Given the description of an element on the screen output the (x, y) to click on. 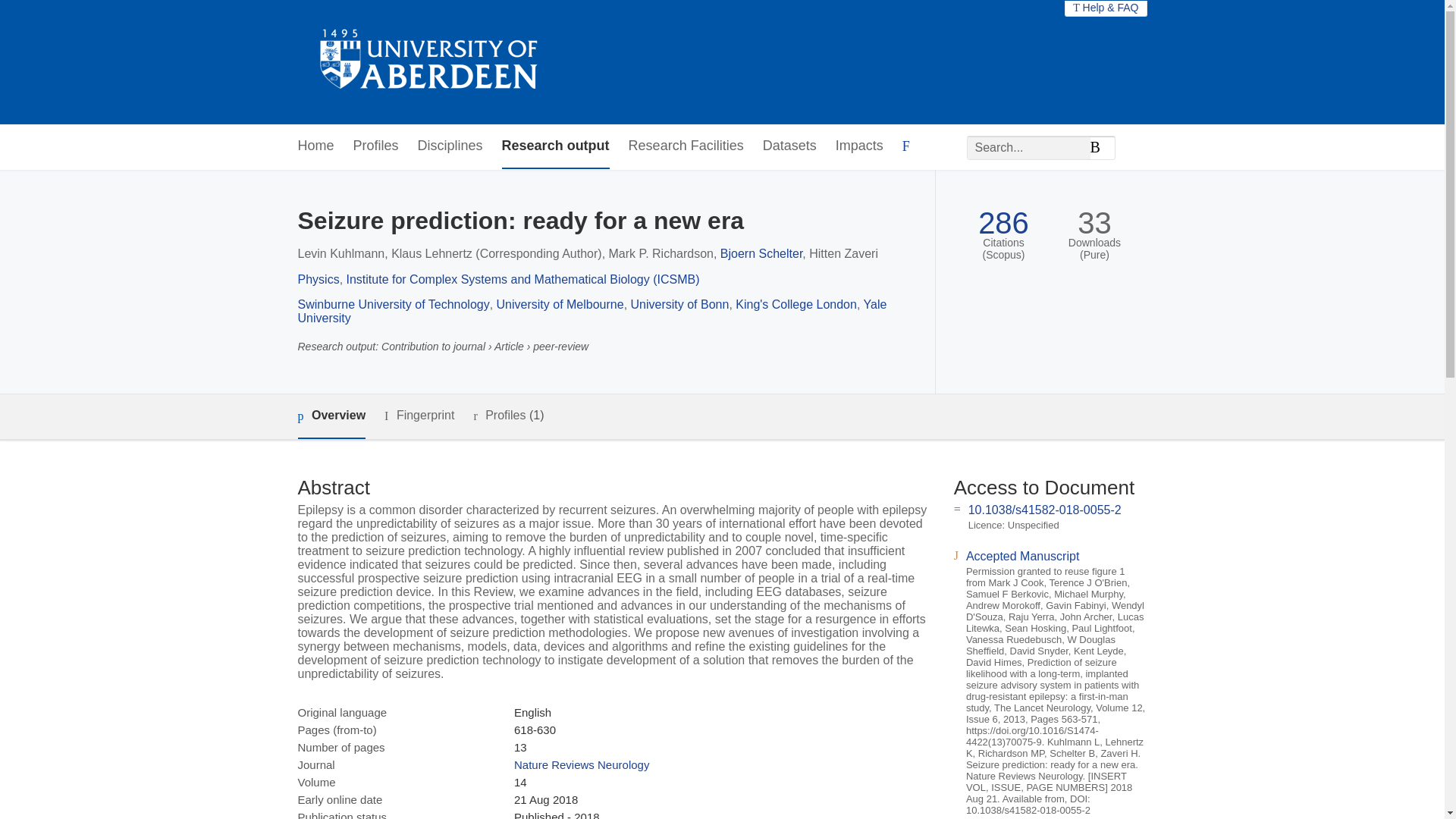
Nature Reviews Neurology (581, 764)
Fingerprint (419, 415)
University of Bonn (679, 304)
Yale University (591, 311)
Profiles (375, 146)
Impacts (859, 146)
Physics (318, 278)
Research Facilities (686, 146)
The University of Aberdeen Research Portal Home (429, 61)
286 (1003, 222)
Overview (331, 415)
Accepted Manuscript (1022, 555)
Disciplines (450, 146)
Datasets (789, 146)
Bjoern Schelter (761, 253)
